Given the description of an element on the screen output the (x, y) to click on. 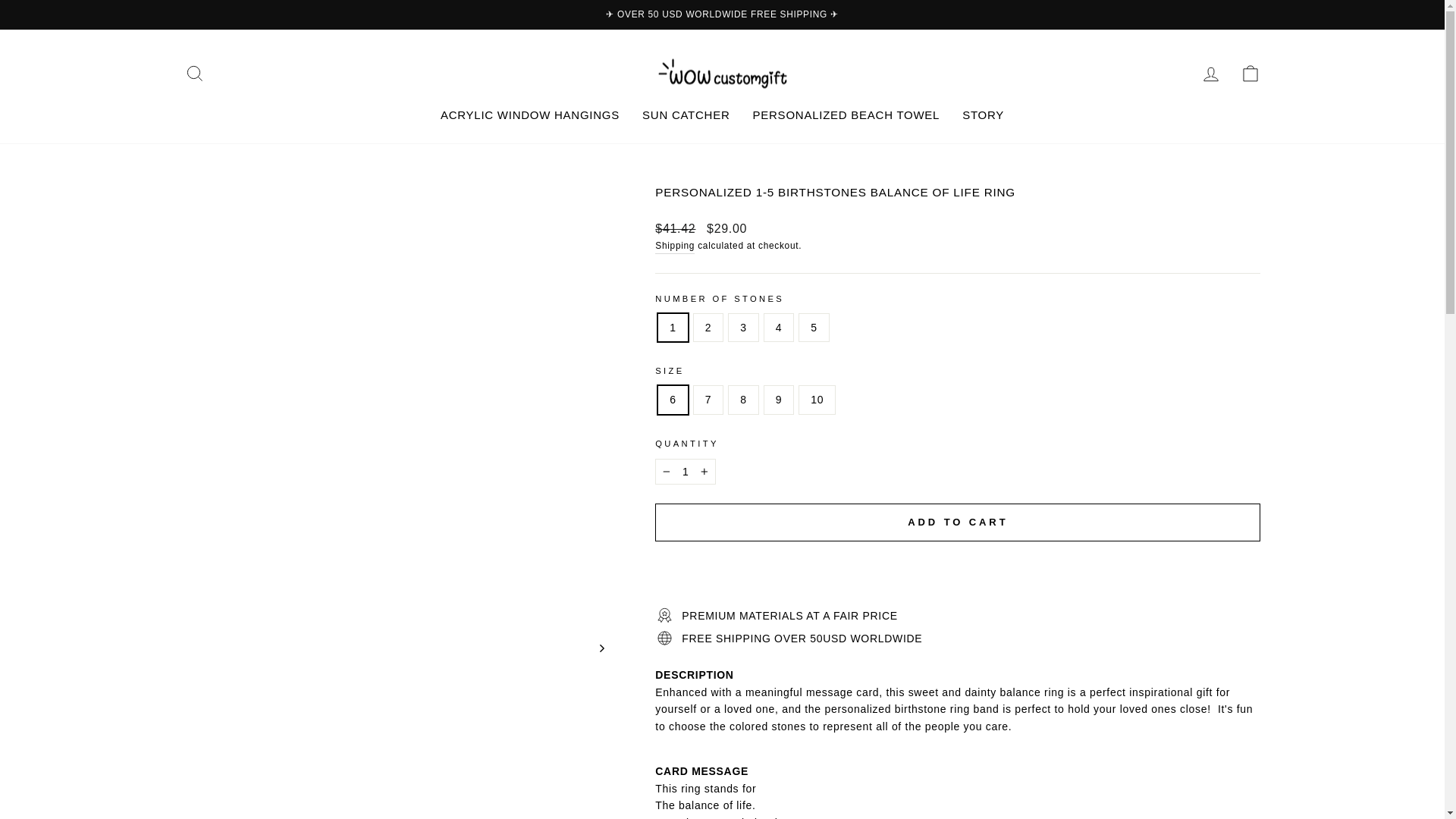
PERSONALIZED BEACH TOWEL (846, 115)
LOG IN (1210, 73)
CART (1249, 73)
SUN CATCHER (685, 115)
SEARCH (194, 73)
STORY (982, 115)
